Given the description of an element on the screen output the (x, y) to click on. 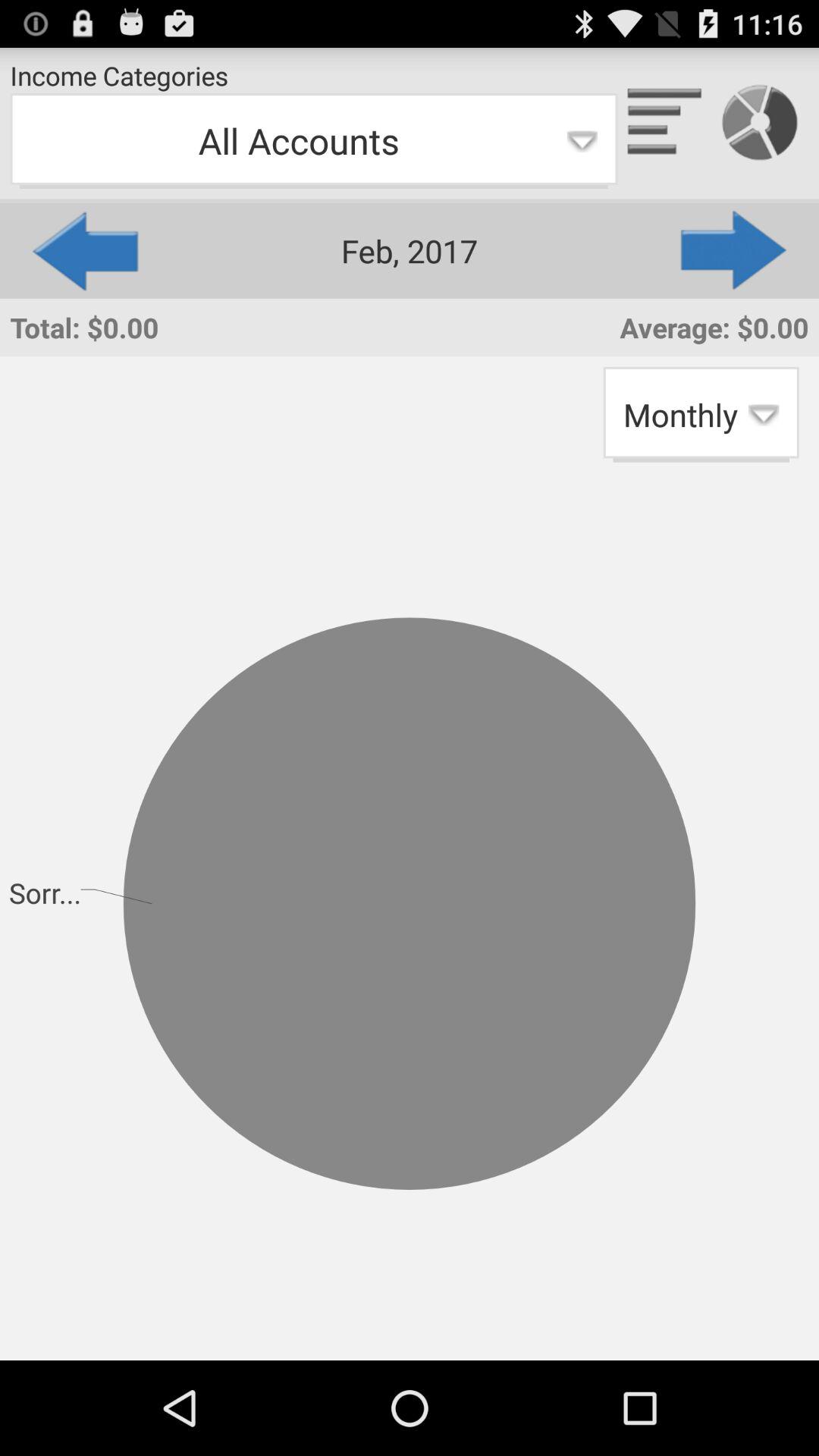
tap the app to the right of the income categories item (665, 123)
